Given the description of an element on the screen output the (x, y) to click on. 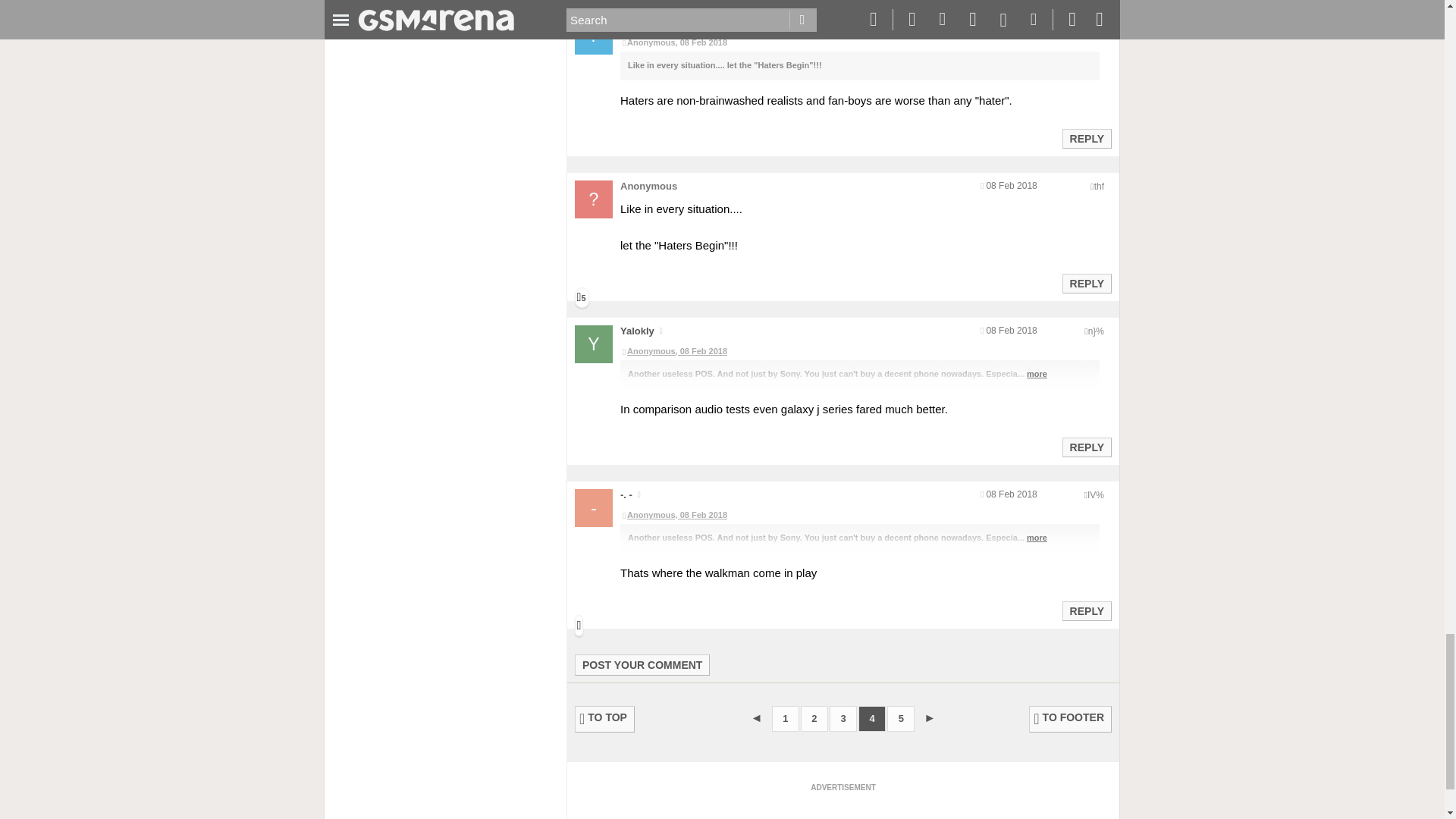
TO TOP (604, 718)
